Given the description of an element on the screen output the (x, y) to click on. 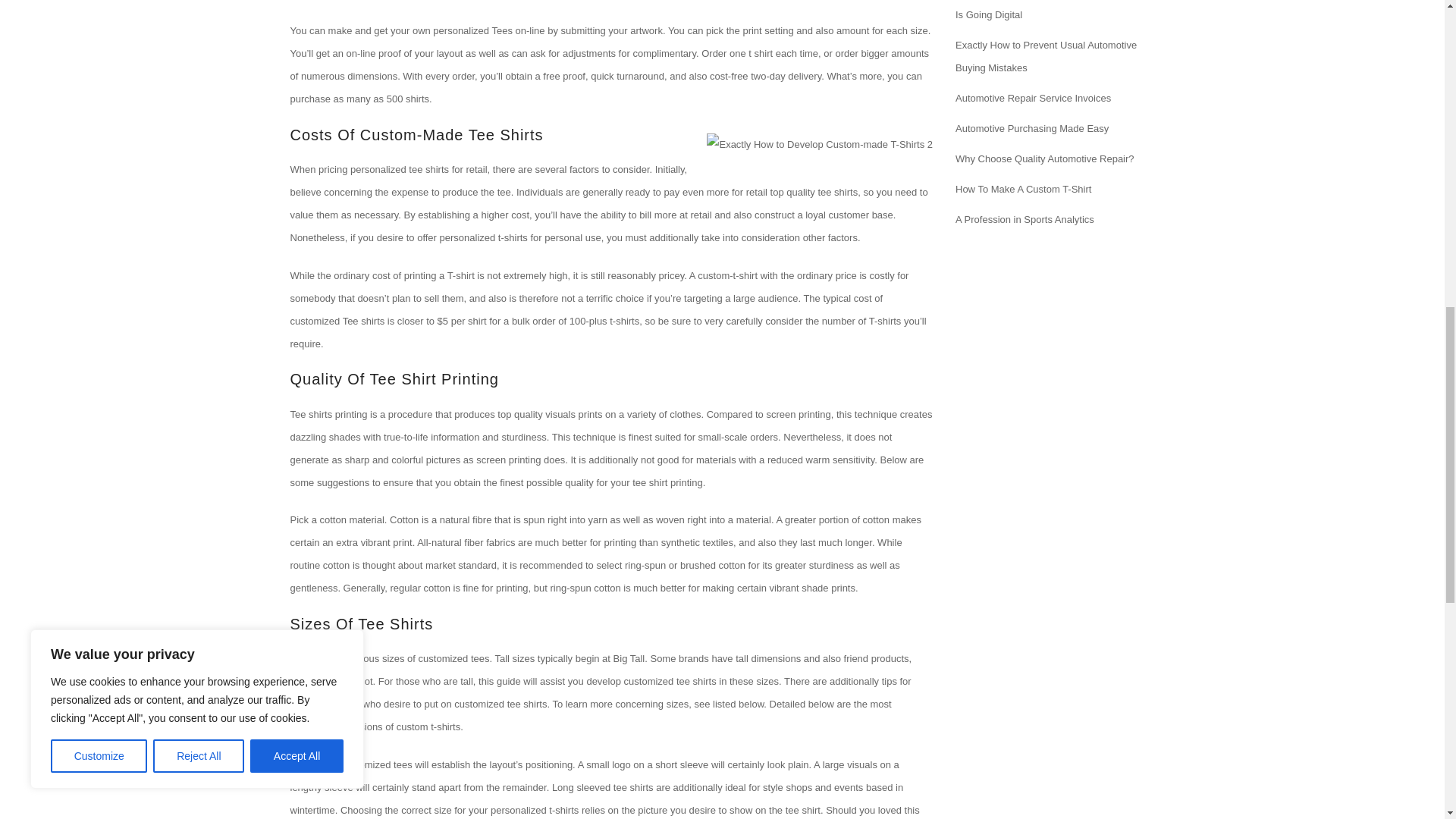
on-line proof (373, 52)
The Way Forward For Automotive Shopping Is Going Digital (1051, 10)
